Given the description of an element on the screen output the (x, y) to click on. 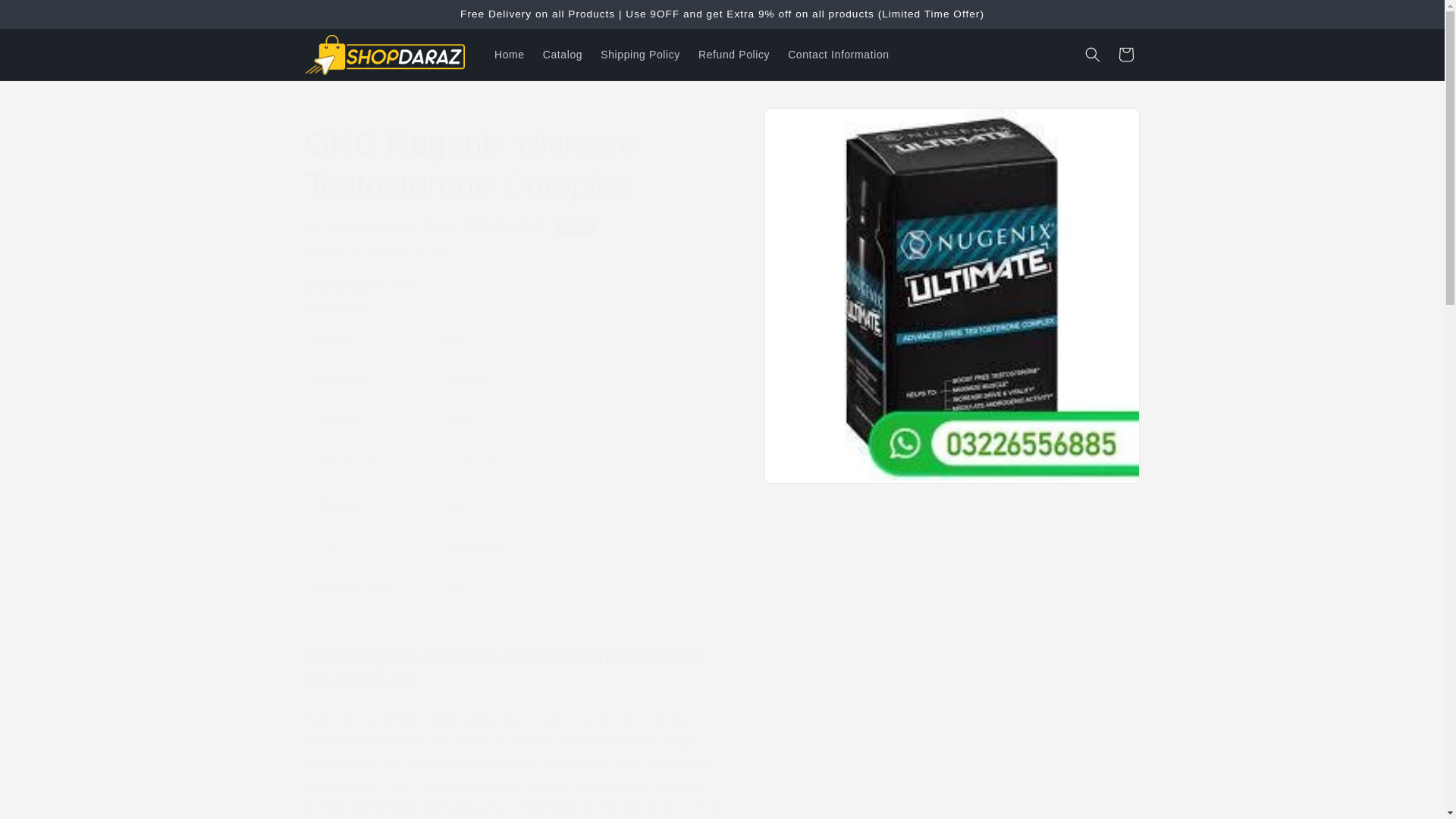
Shipping Policy (639, 54)
Contact Information (838, 54)
Skip to product information (809, 125)
Cart (1124, 54)
Refund Policy (733, 54)
Home (509, 54)
Catalog (562, 54)
Skip to content (45, 17)
Shipping (323, 249)
